Given the description of an element on the screen output the (x, y) to click on. 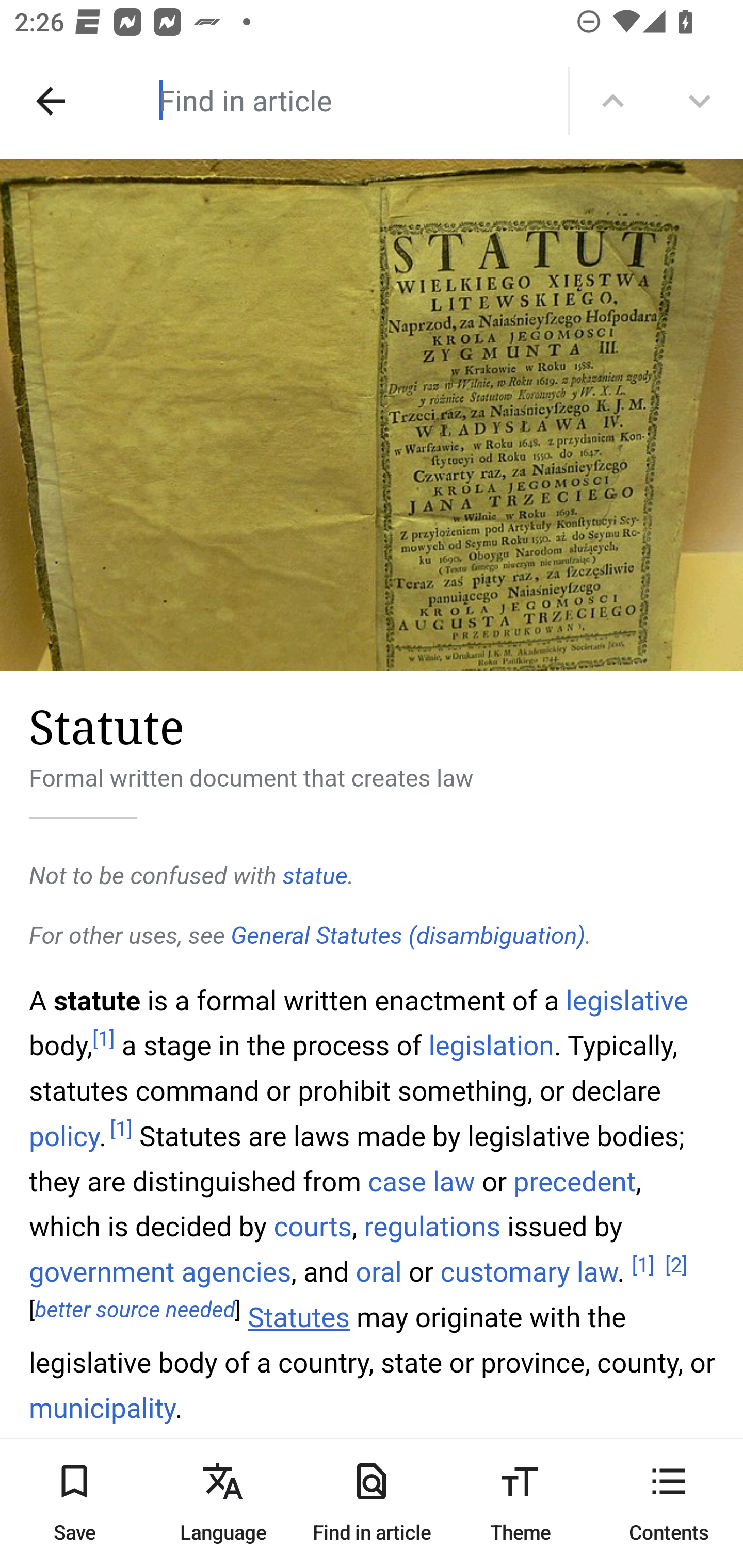
Done (50, 101)
Find previous (612, 101)
Find next (699, 101)
Find in article (334, 100)
Image: Statute (371, 414)
statue (314, 876)
General Statutes (disambiguation) (407, 935)
legislative (626, 1000)
[] [ 1 ] (103, 1038)
legislation (490, 1045)
[] [ 1 ] (120, 1129)
policy (64, 1136)
case law (421, 1180)
precedent (574, 1180)
courts (312, 1225)
regulations (432, 1225)
[] [ 1 ] (642, 1264)
[] [ 2 ] (676, 1264)
government agencies (160, 1272)
oral (377, 1272)
customary law (528, 1272)
better source needed better   source   needed (135, 1310)
Statutes (298, 1318)
municipality (102, 1409)
Save (74, 1502)
Language (222, 1502)
Find in article (371, 1502)
Theme (519, 1502)
Contents (668, 1502)
